Given the description of an element on the screen output the (x, y) to click on. 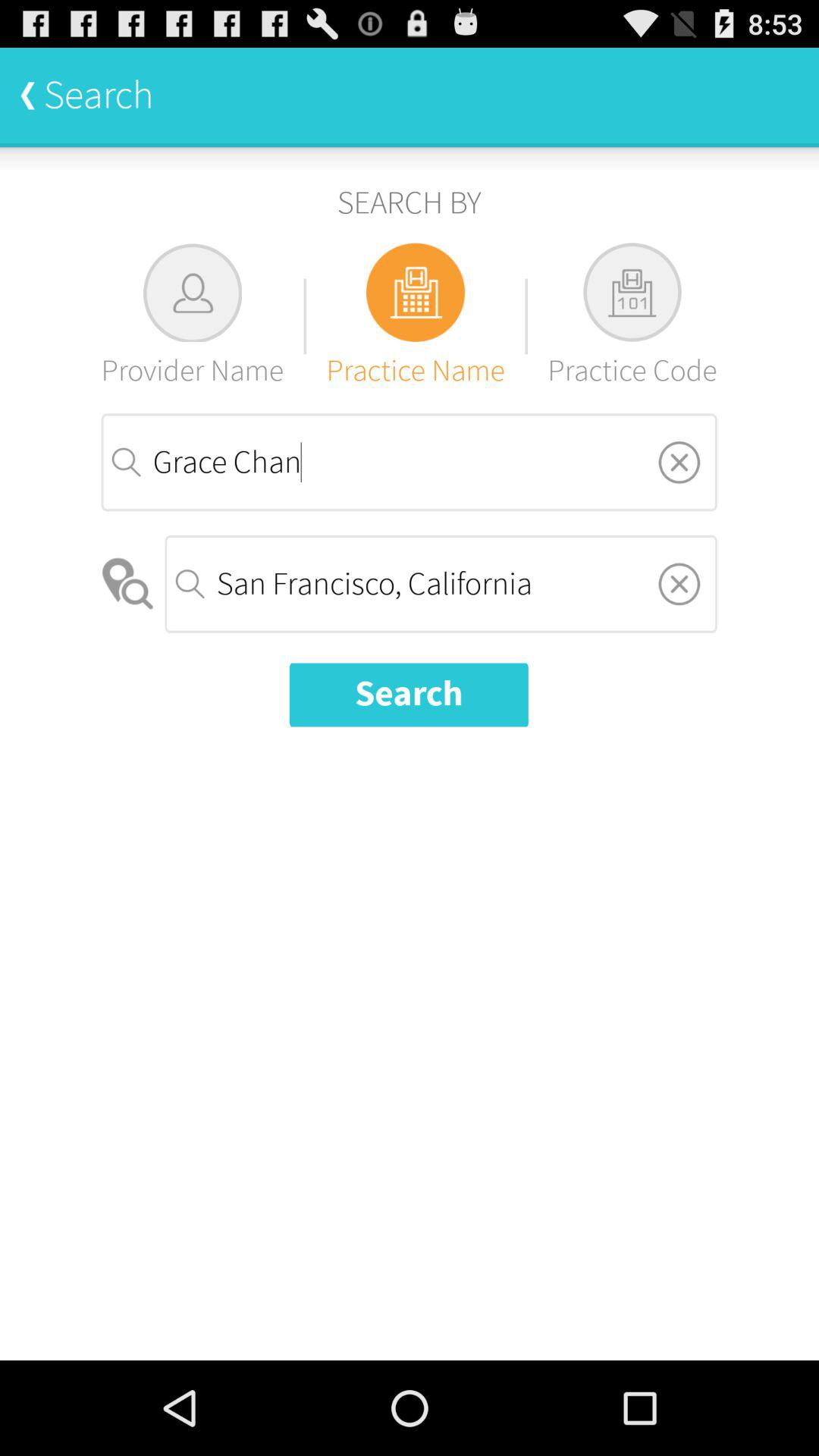
scroll until the provider name radio button (192, 316)
